Given the description of an element on the screen output the (x, y) to click on. 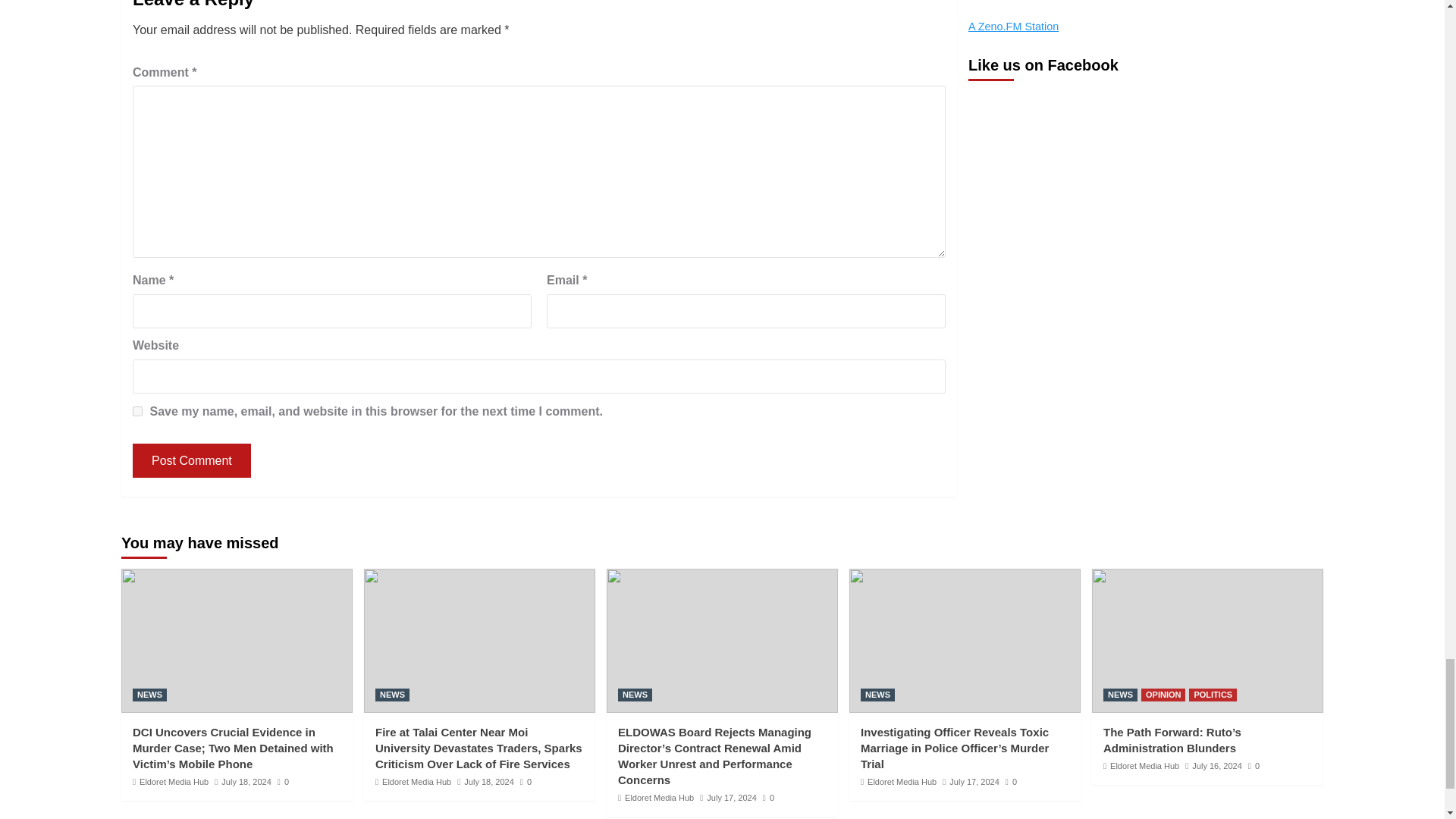
Post Comment (191, 460)
yes (137, 411)
